Given the description of an element on the screen output the (x, y) to click on. 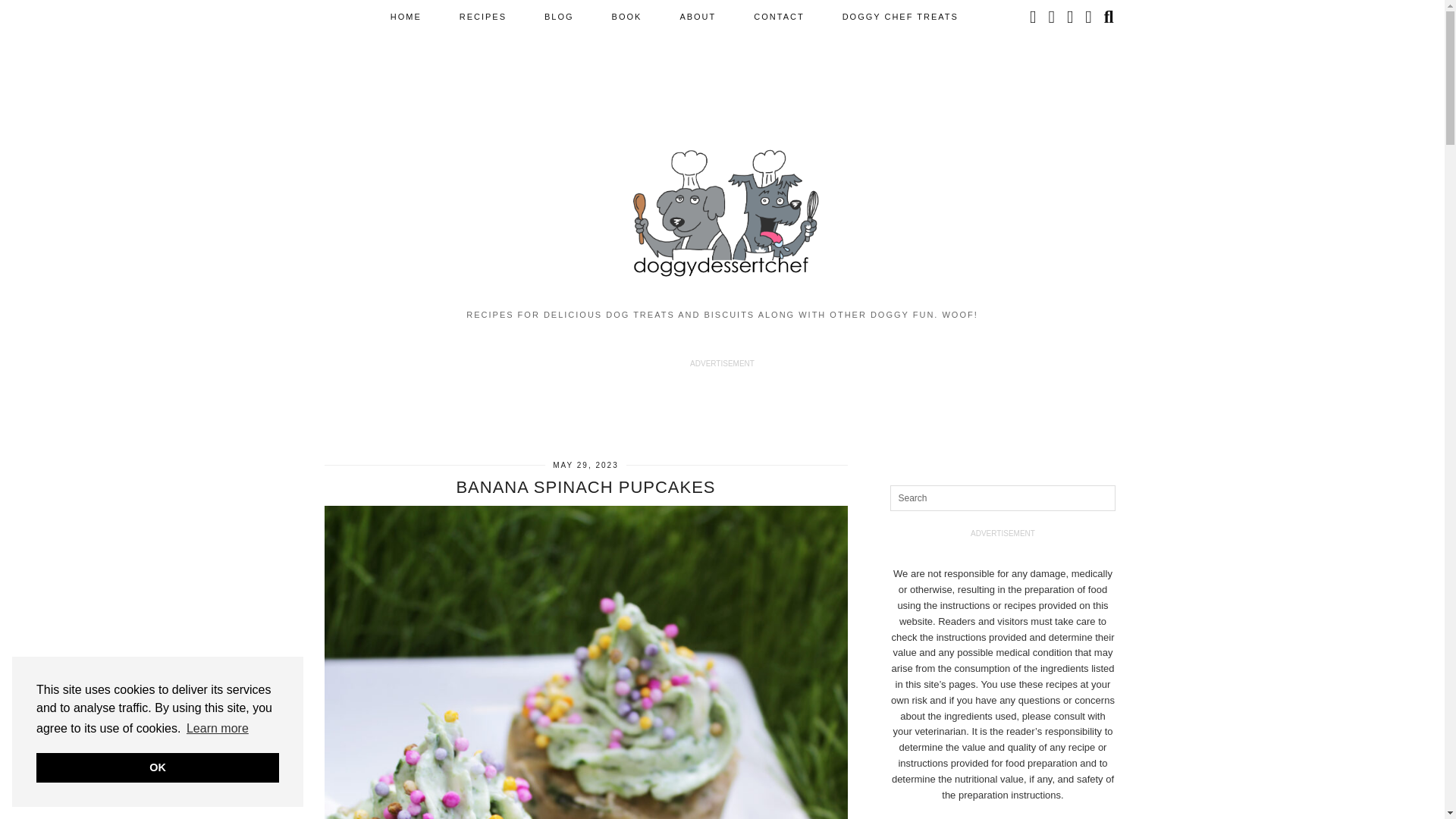
OK (157, 767)
Learn more (217, 728)
